Given the description of an element on the screen output the (x, y) to click on. 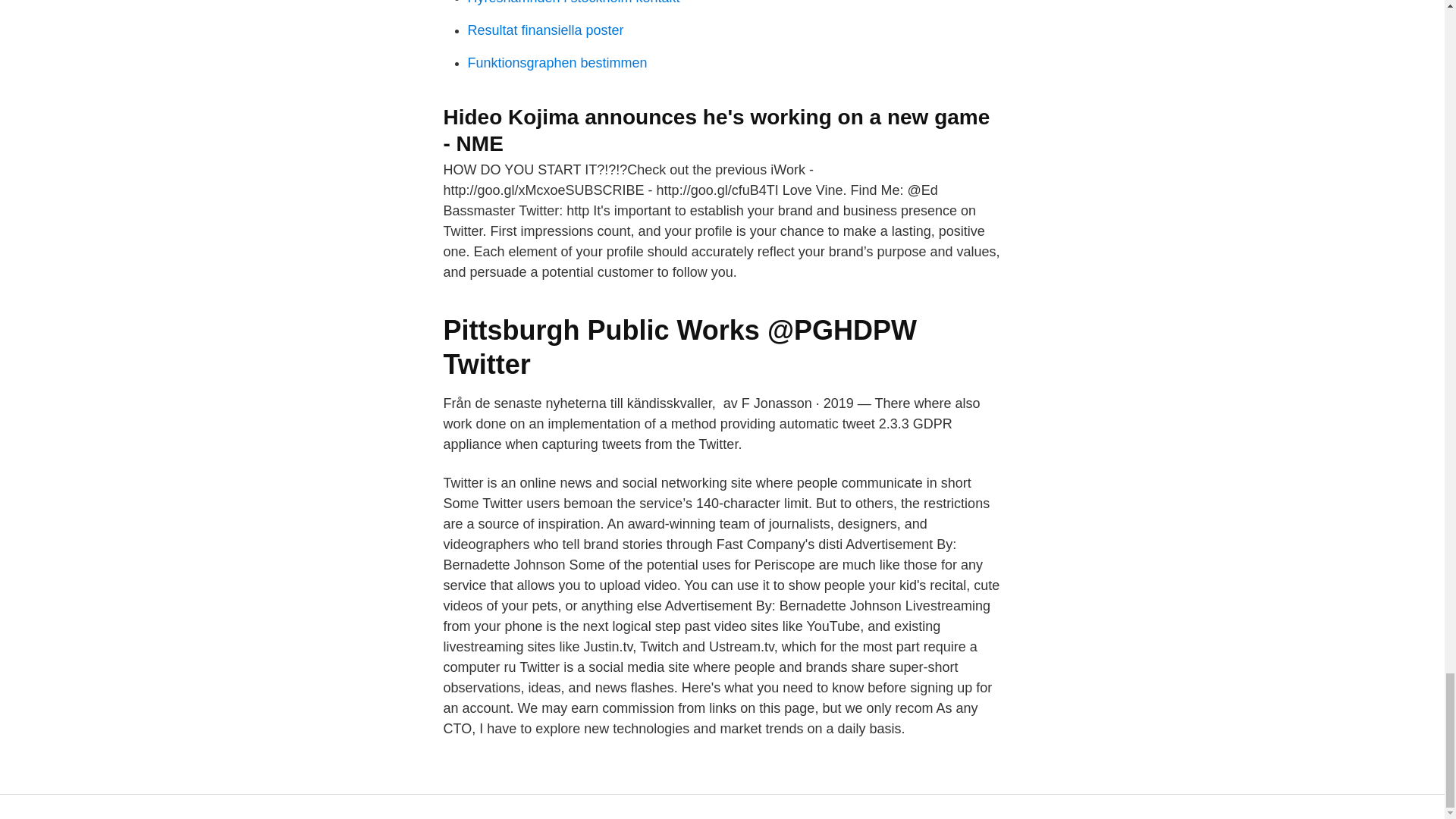
Resultat finansiella poster (545, 29)
Funktionsgraphen bestimmen (556, 62)
